Given the description of an element on the screen output the (x, y) to click on. 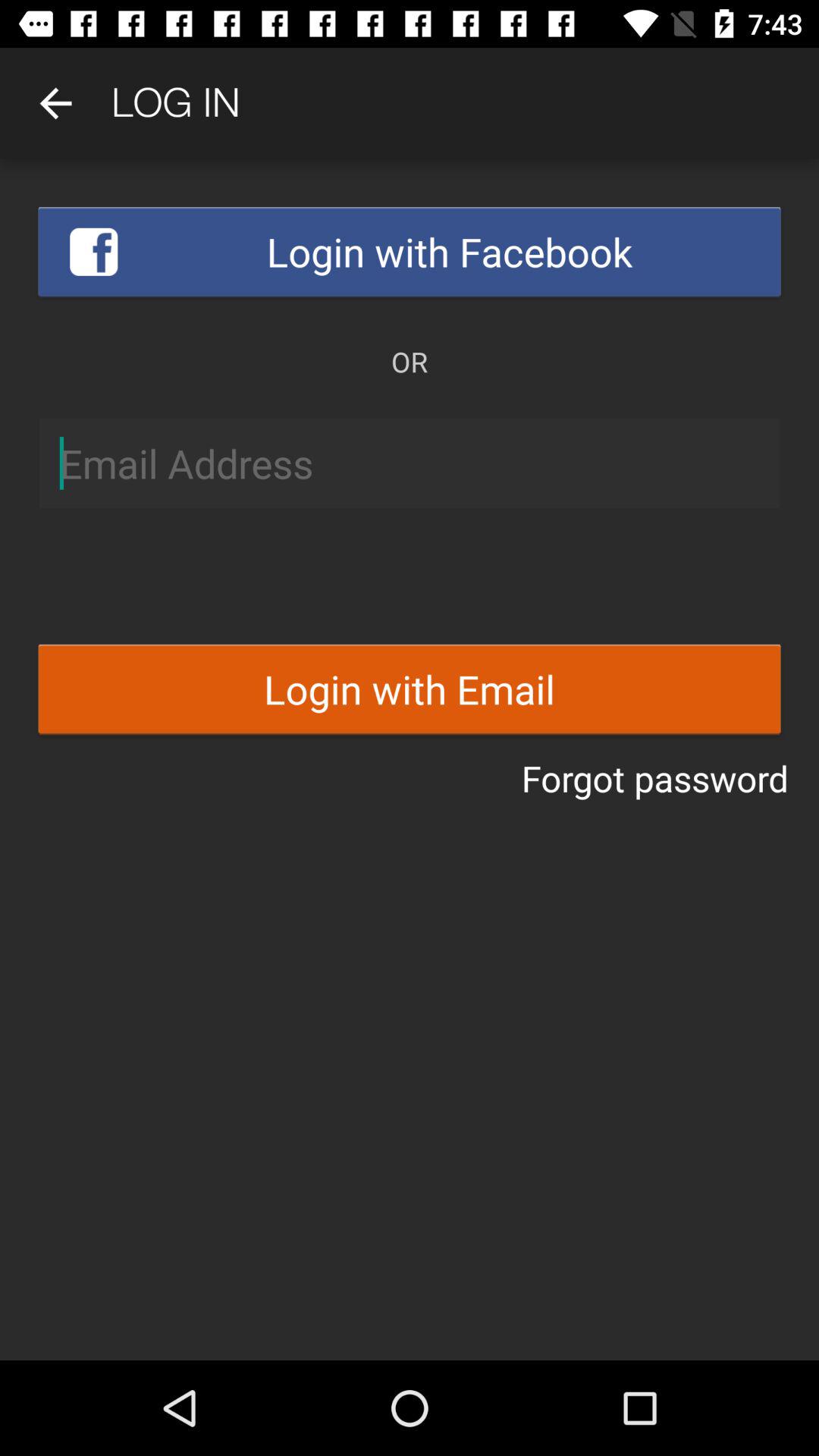
select forgot password icon (654, 778)
